Given the description of an element on the screen output the (x, y) to click on. 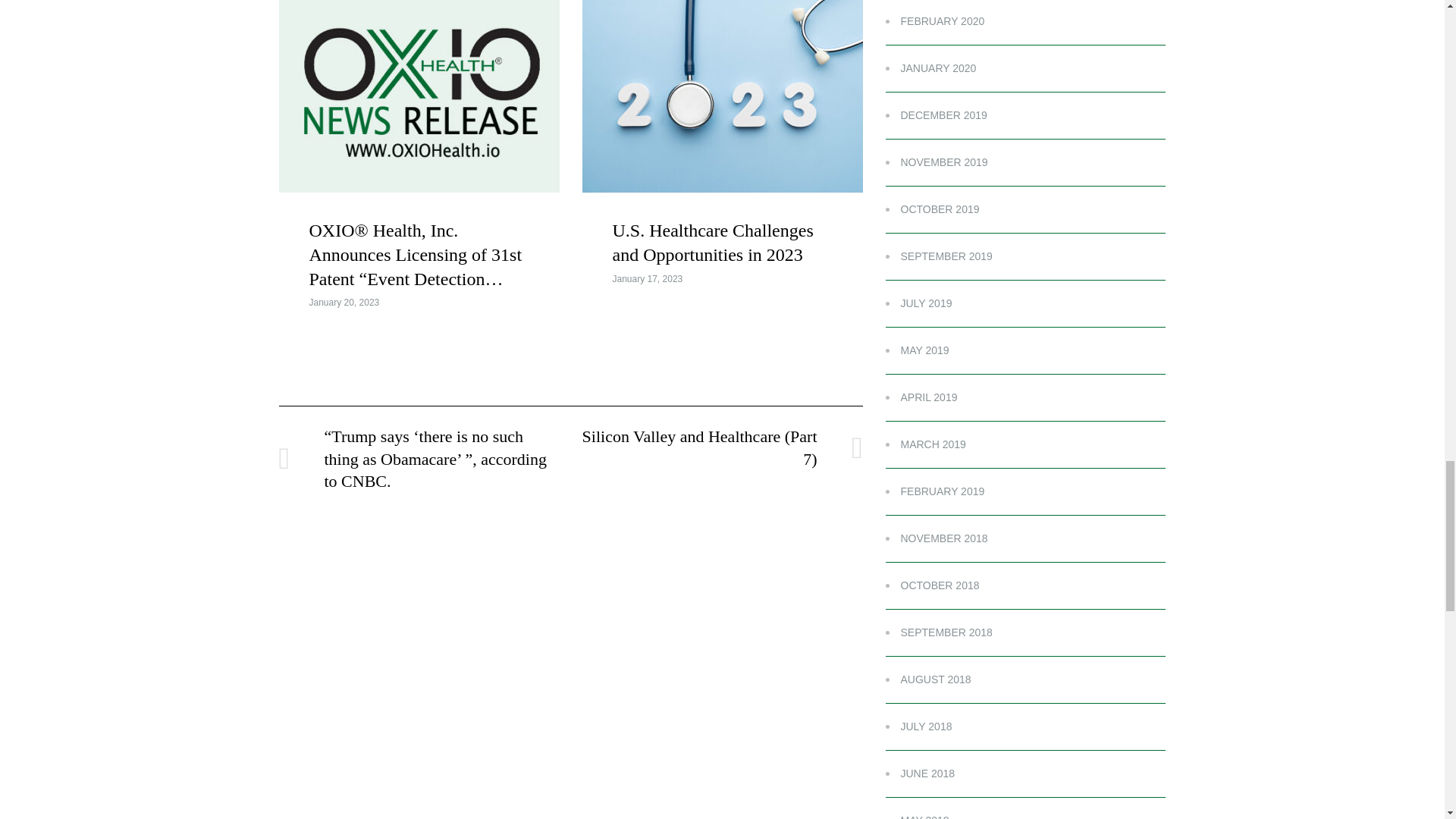
U.S. Healthcare Challenges and Opportunities in 2023 (712, 242)
